Given the description of an element on the screen output the (x, y) to click on. 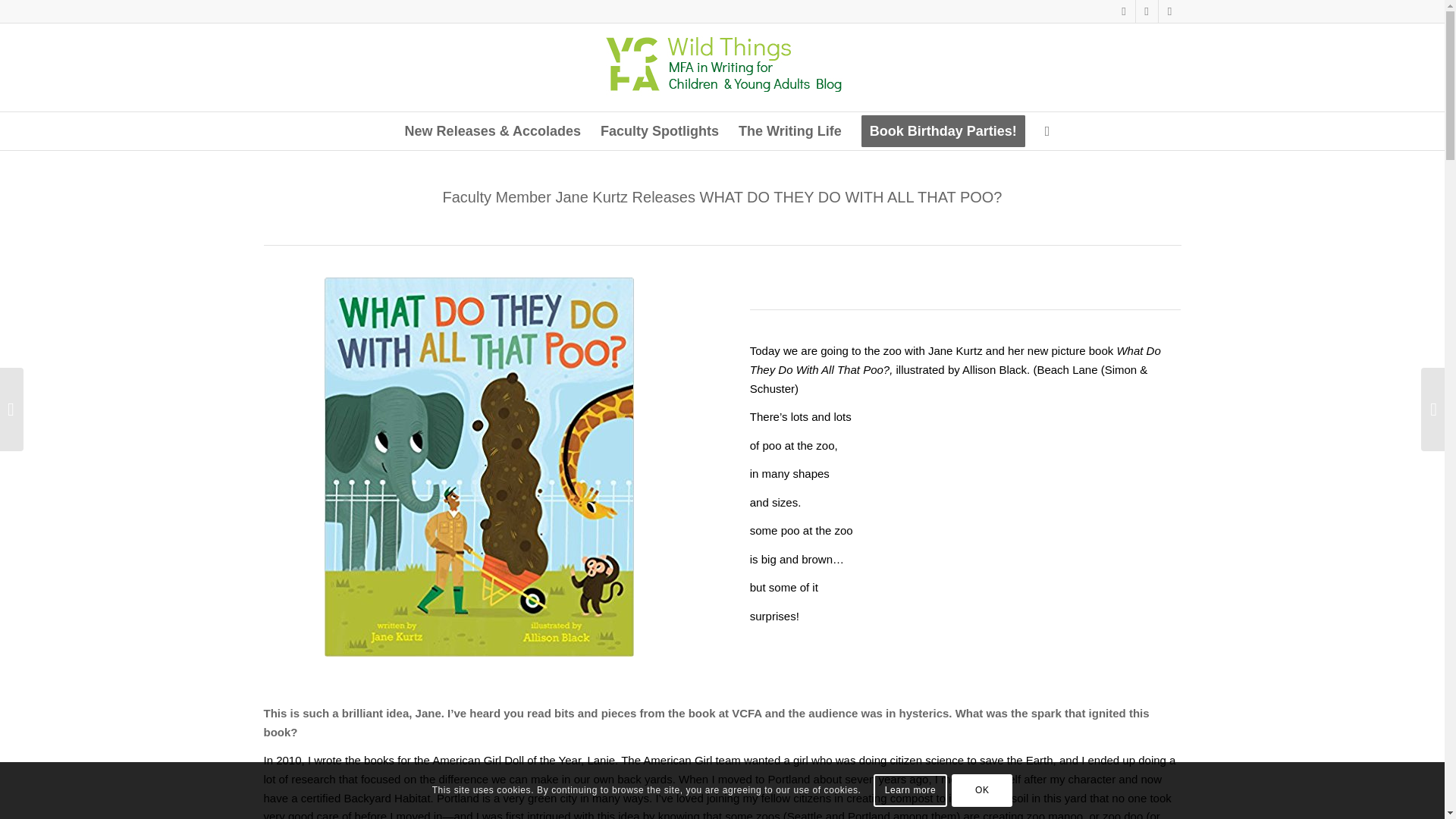
Book Birthday Parties! (943, 130)
Instagram (1124, 11)
Facebook (1146, 11)
Learn more (910, 789)
Faculty Spotlights (660, 130)
The Writing Life (790, 130)
OK (981, 789)
Twitter (1169, 11)
